Given the description of an element on the screen output the (x, y) to click on. 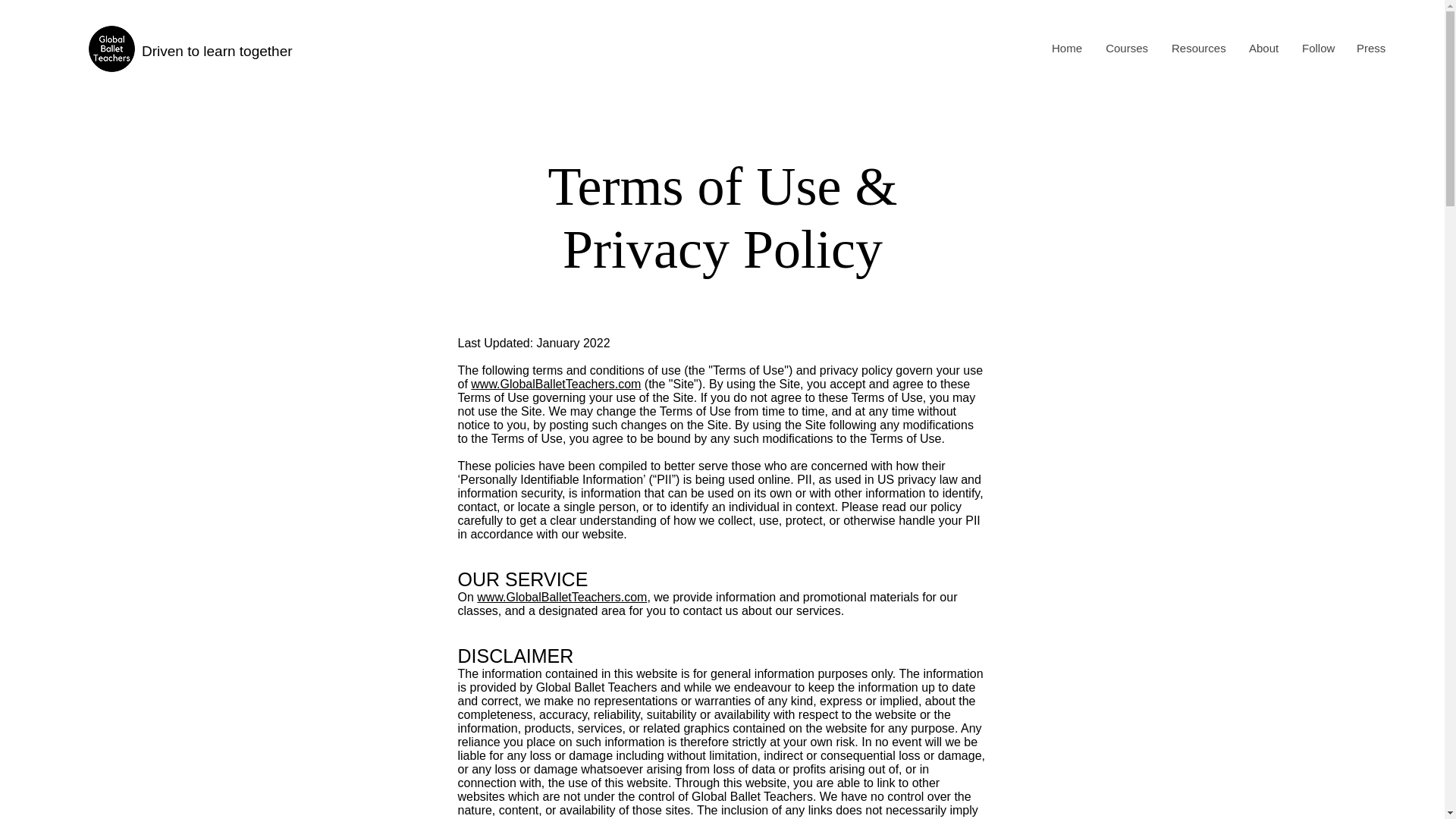
www.GlobalBalletTeachers.com (555, 383)
Resources (1197, 47)
Home (1066, 47)
Follow (1316, 47)
www.GlobalBalletTeachers.com (561, 596)
Driven to learn together (216, 50)
Press (1369, 47)
About (1263, 47)
Courses (1125, 47)
